Given the description of an element on the screen output the (x, y) to click on. 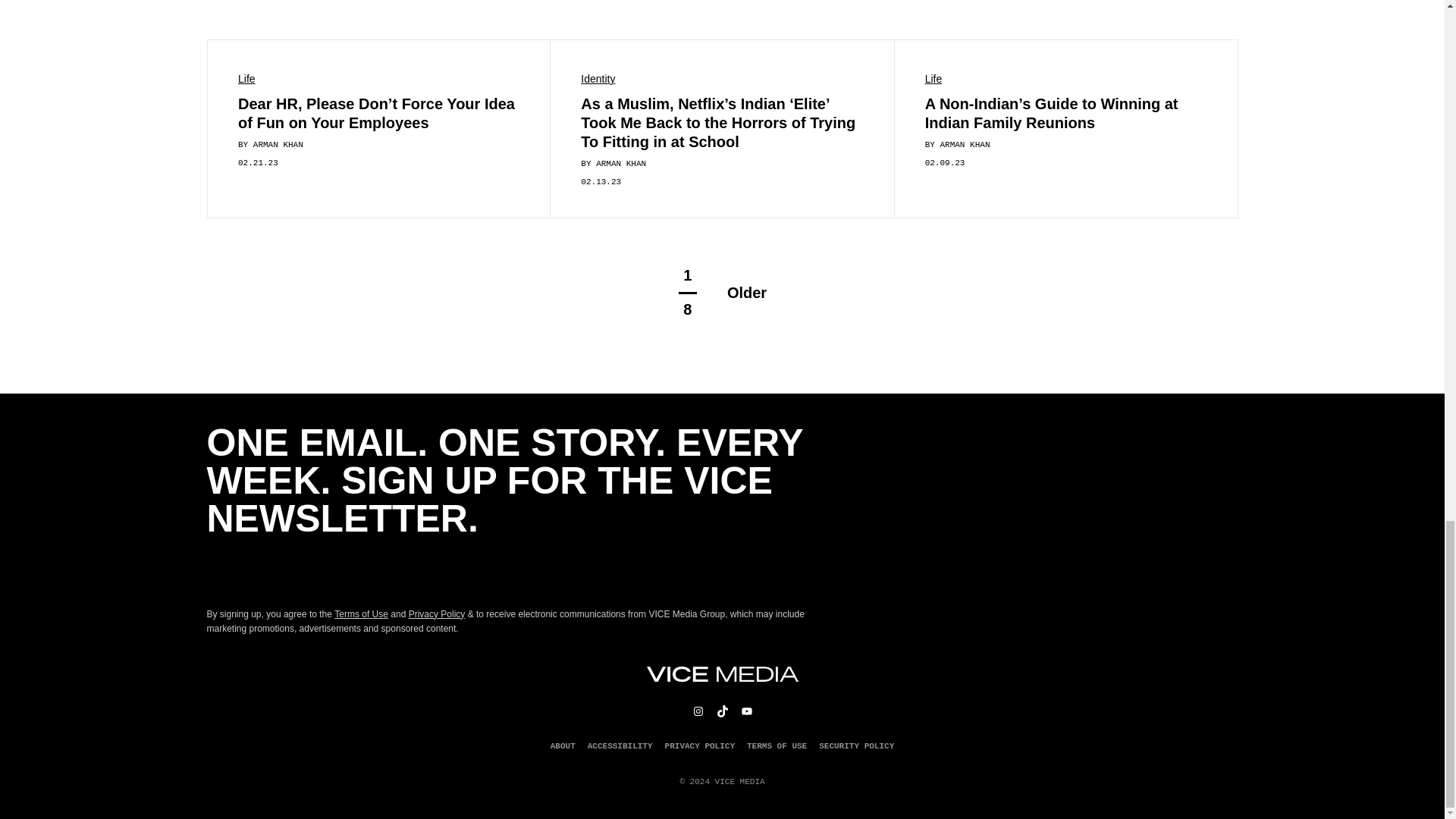
Posts by Arman Khan (276, 144)
Newsletter Signup Form (509, 572)
Posts by Arman Khan (620, 163)
Posts by Arman Khan (964, 144)
